Given the description of an element on the screen output the (x, y) to click on. 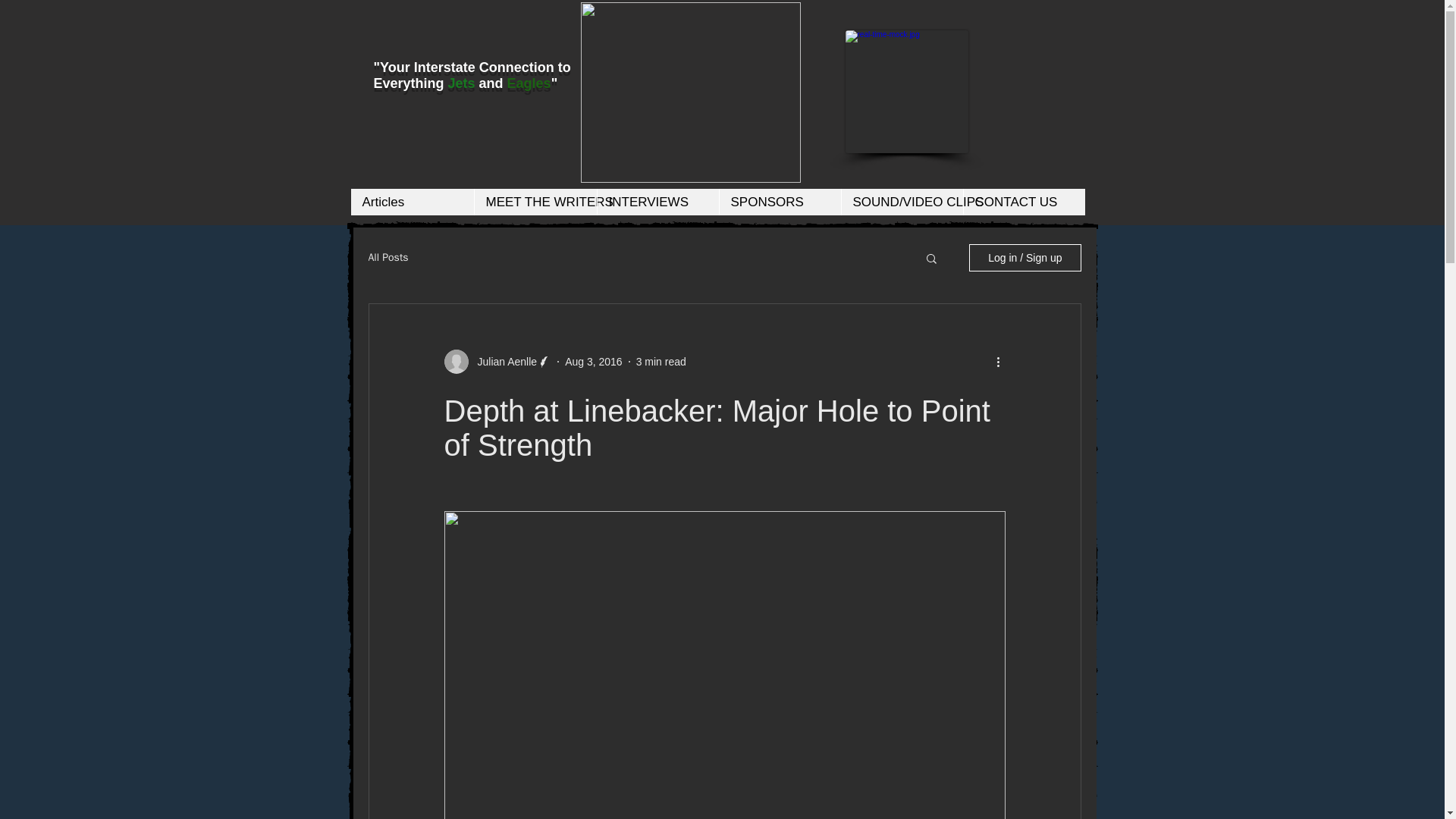
SPONSORS (780, 202)
CONTACT US (1023, 202)
All Posts (388, 257)
Articles (411, 202)
Julian Aenlle (502, 360)
3 min read (660, 360)
Aug 3, 2016 (593, 360)
